Given the description of an element on the screen output the (x, y) to click on. 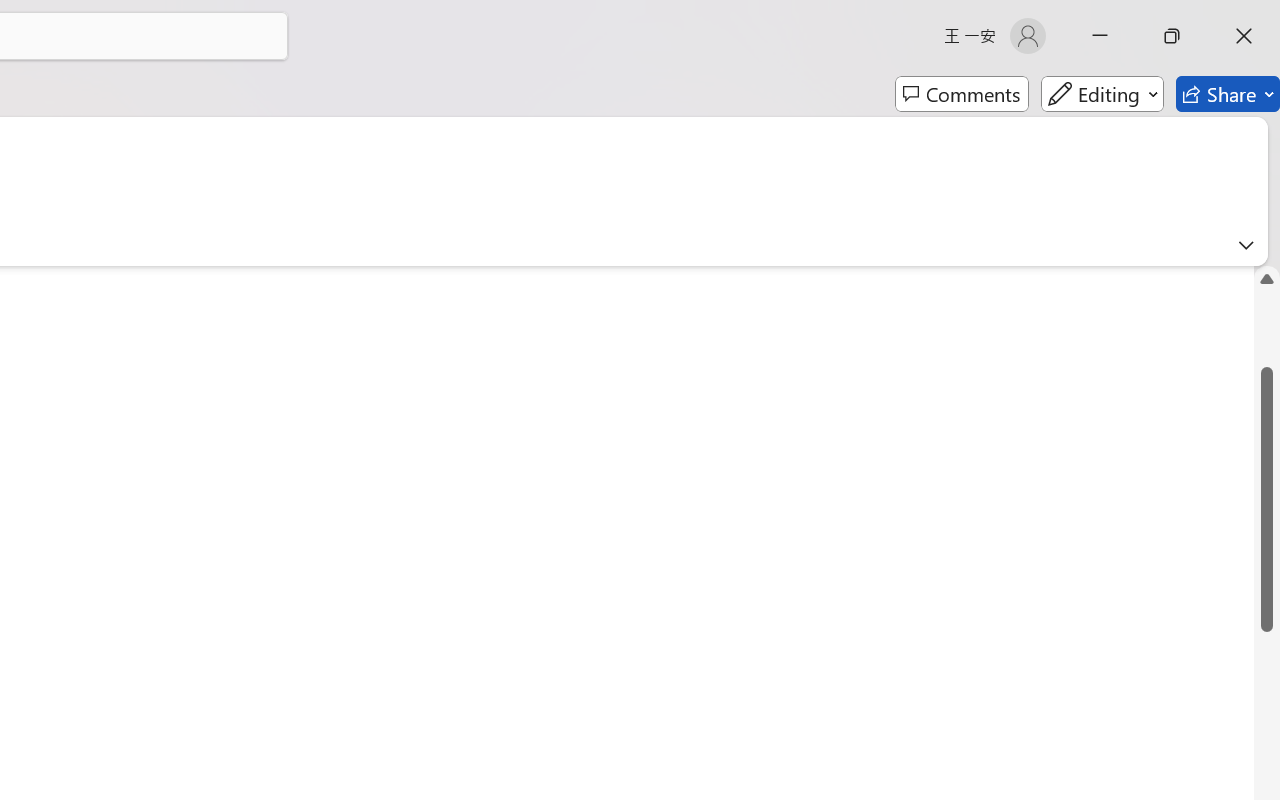
Swap "from" and "to" languages. (1105, 426)
